Given the description of an element on the screen output the (x, y) to click on. 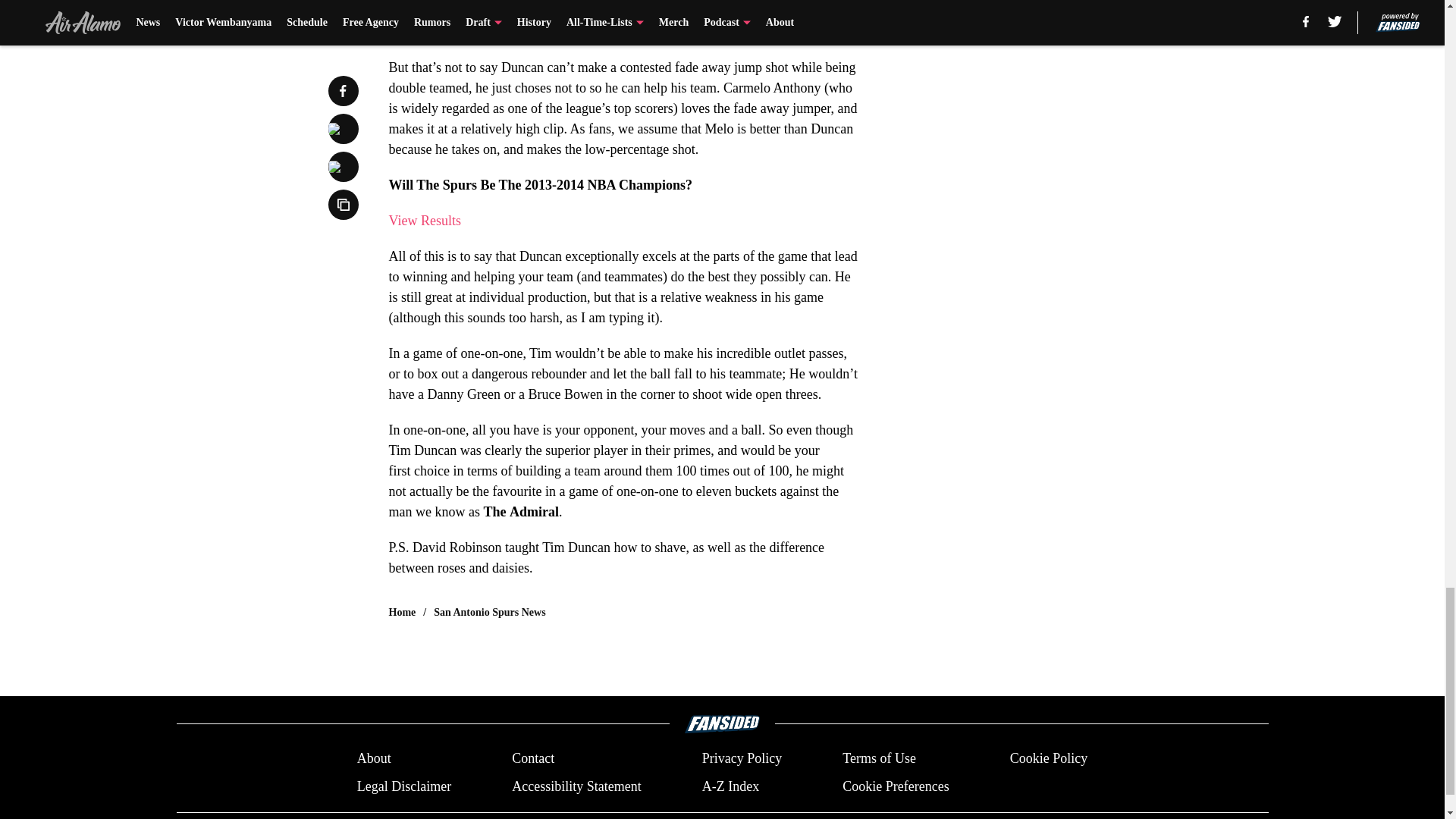
Home (401, 612)
San Antonio Spurs News (488, 612)
View Results (424, 220)
